Given the description of an element on the screen output the (x, y) to click on. 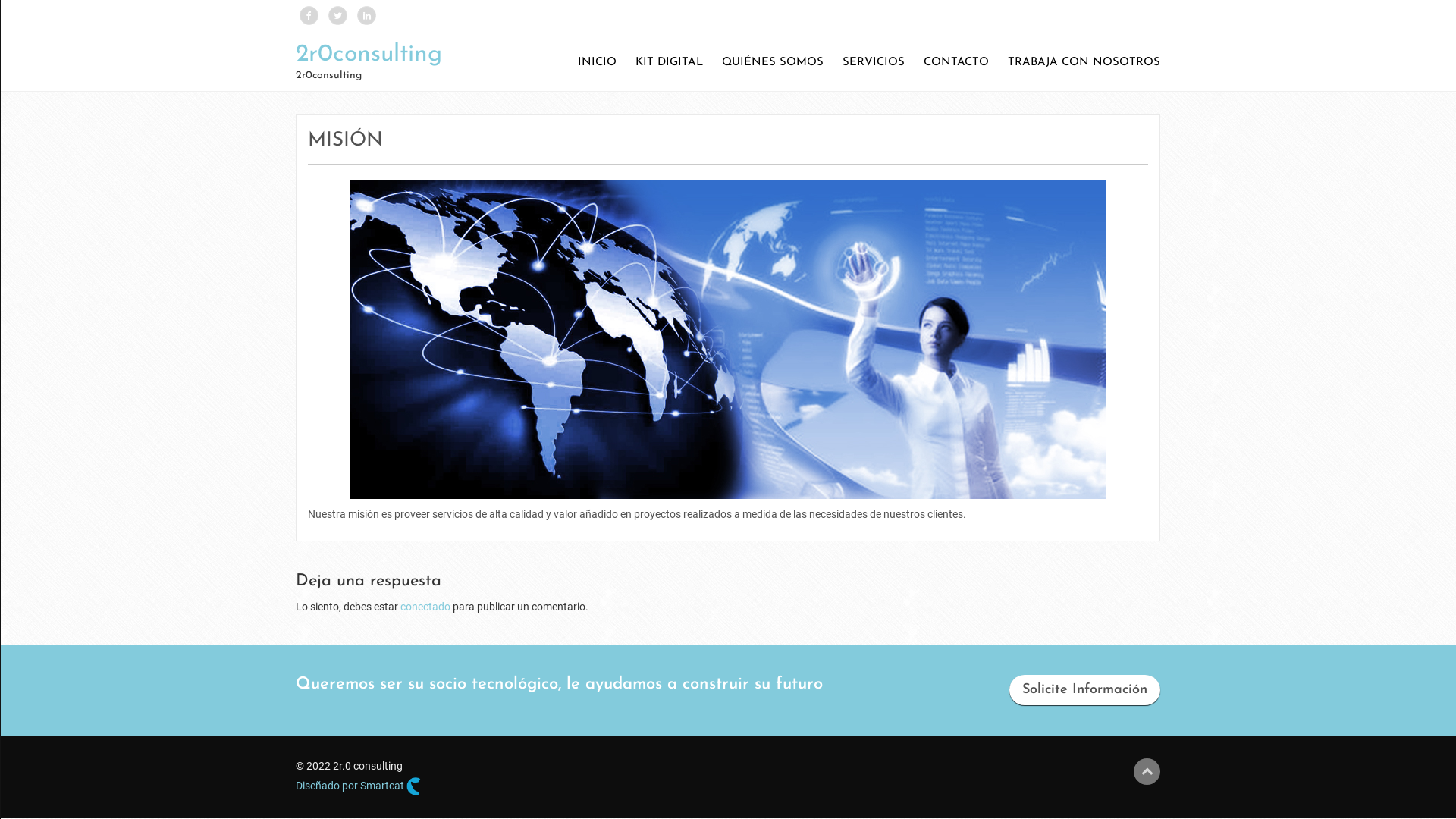
INICIO Element type: text (589, 62)
CONTACTO Element type: text (948, 62)
SERVICIOS Element type: text (865, 62)
TRABAJA CON NOSOTROS Element type: text (1076, 62)
KIT DIGITAL Element type: text (661, 62)
2r0consulting Element type: text (368, 54)
conectado Element type: text (425, 606)
